Given the description of an element on the screen output the (x, y) to click on. 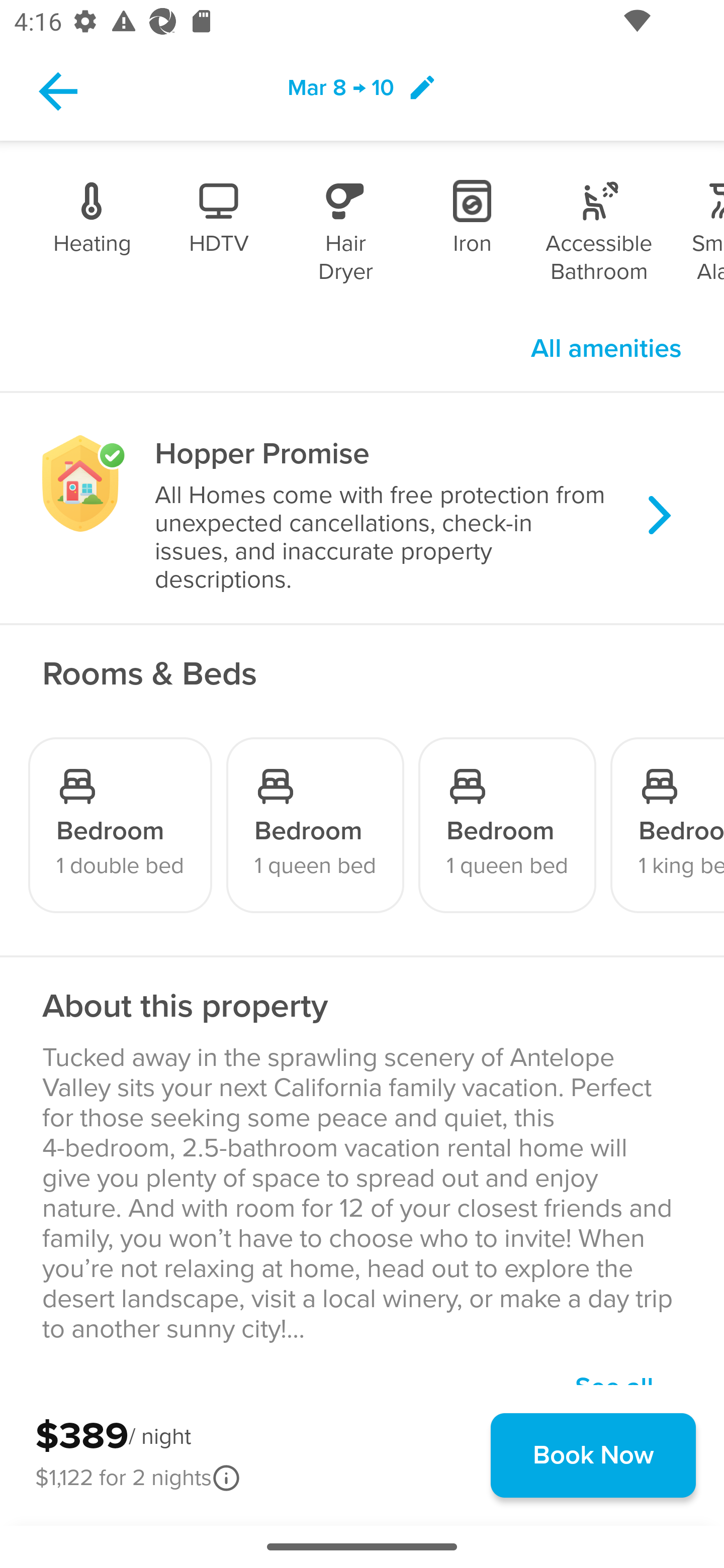
Mar 8 → 10 (361, 90)
All amenities (606, 348)
Book Now (592, 1454)
